Given the description of an element on the screen output the (x, y) to click on. 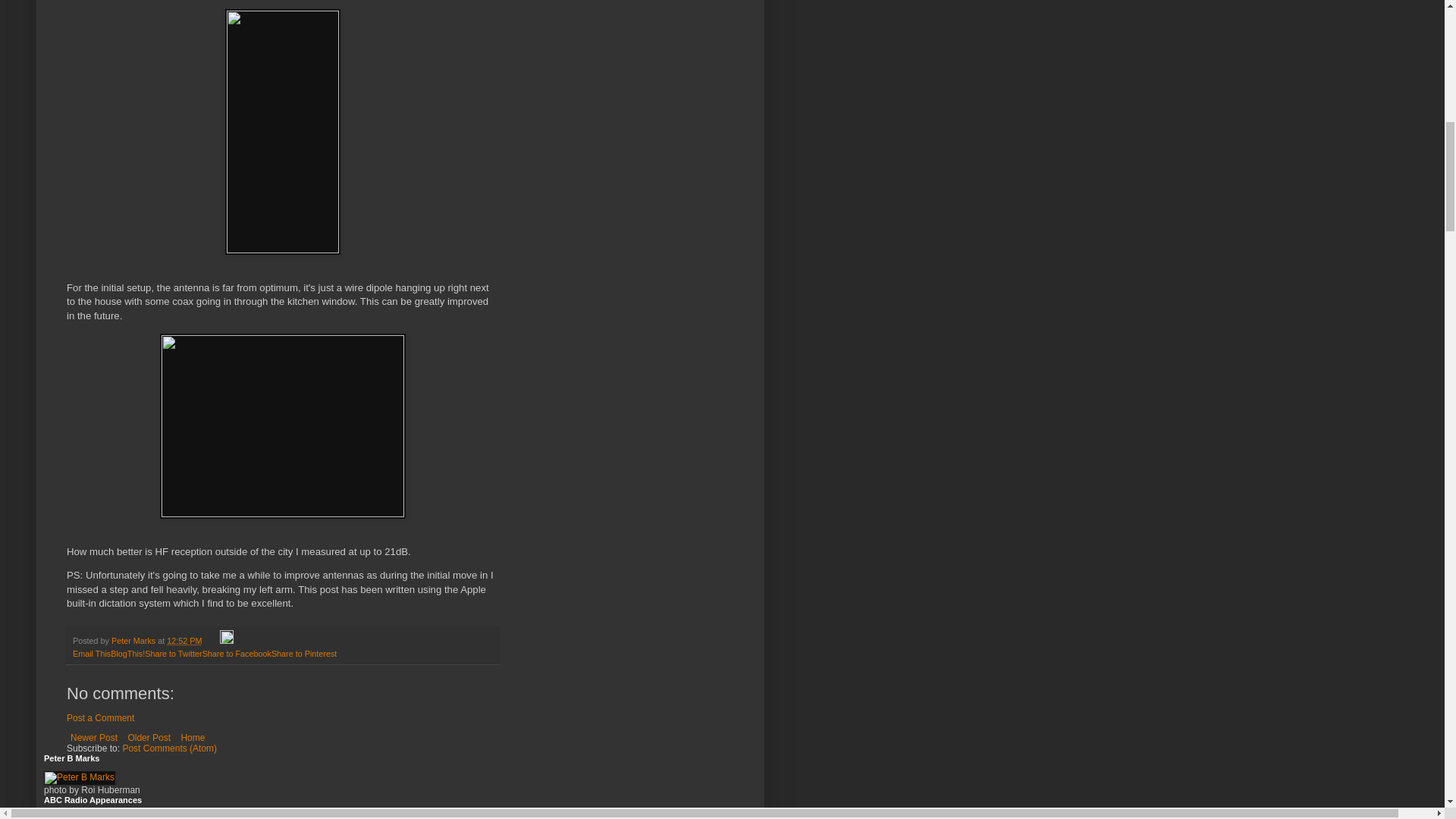
Apple Mac 40th and Vision Pro launch (151, 816)
Share to Twitter (173, 653)
Share to Twitter (173, 653)
Email Post (211, 640)
Edit Post (225, 640)
Share to Facebook (236, 653)
BlogThis! (127, 653)
Email This (91, 653)
Post a Comment (99, 717)
Email This (91, 653)
Home (192, 737)
Share to Facebook (236, 653)
Newer Post (93, 737)
12:52 PM (184, 640)
Peter Marks (134, 640)
